Given the description of an element on the screen output the (x, y) to click on. 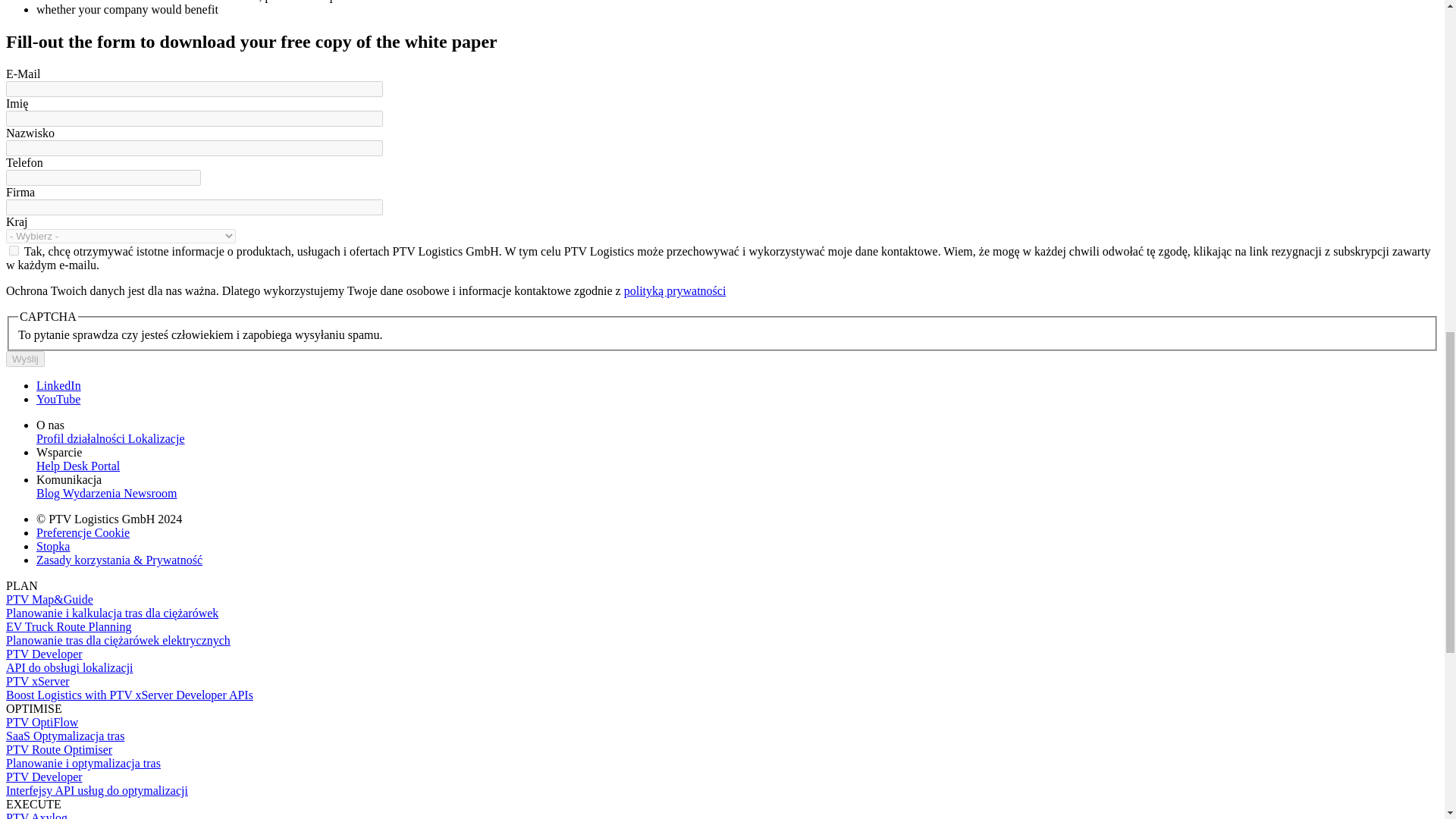
on (13, 250)
